Given the description of an element on the screen output the (x, y) to click on. 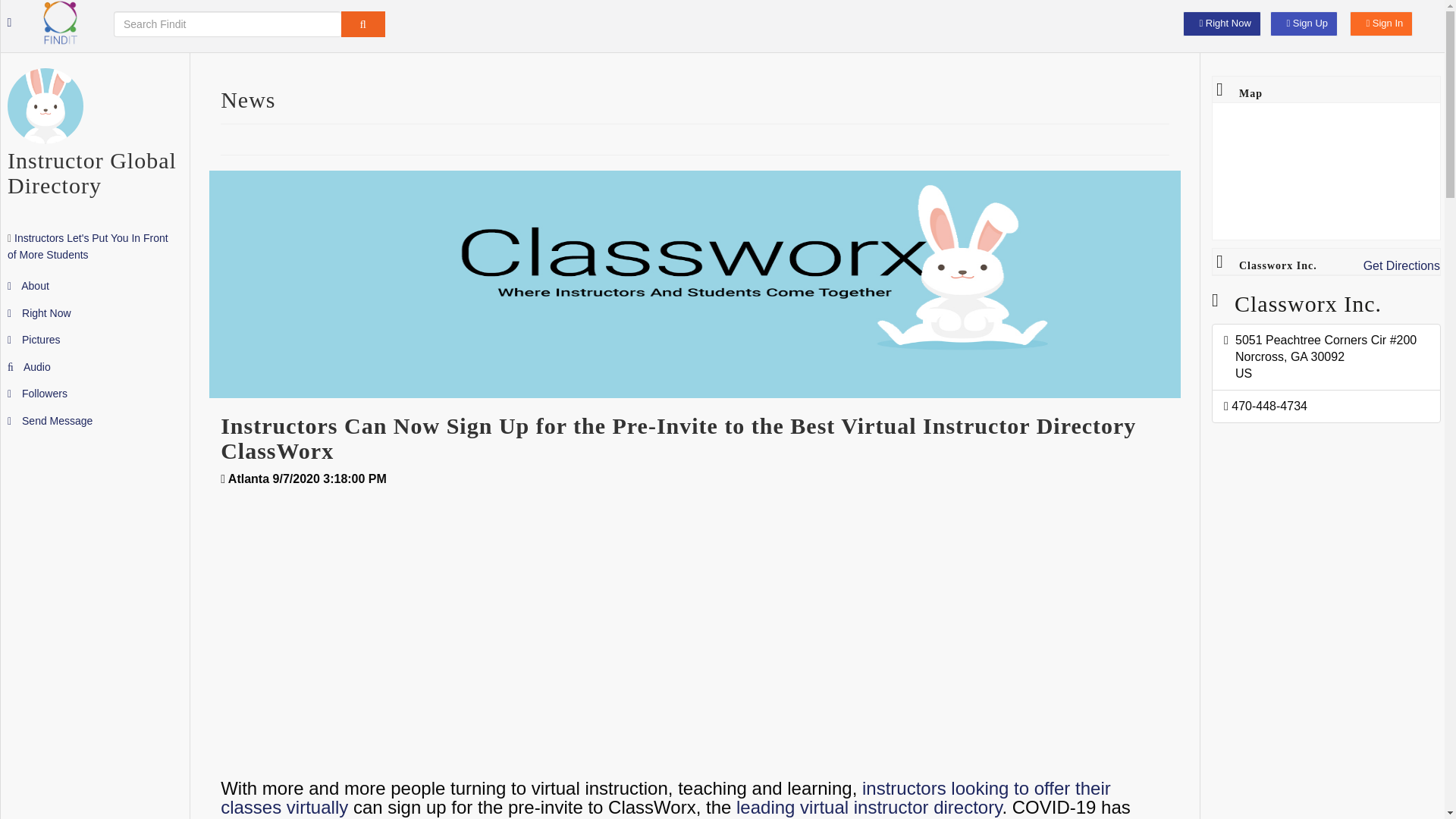
Right Now (1221, 23)
Sign Up (1303, 23)
Pictures (34, 339)
Followers (36, 393)
Audio (28, 367)
Instructors Let's Put You In Front of More Students (87, 246)
Send Message (50, 419)
Right Now (39, 312)
About (28, 285)
Sign In (1380, 23)
